Given the description of an element on the screen output the (x, y) to click on. 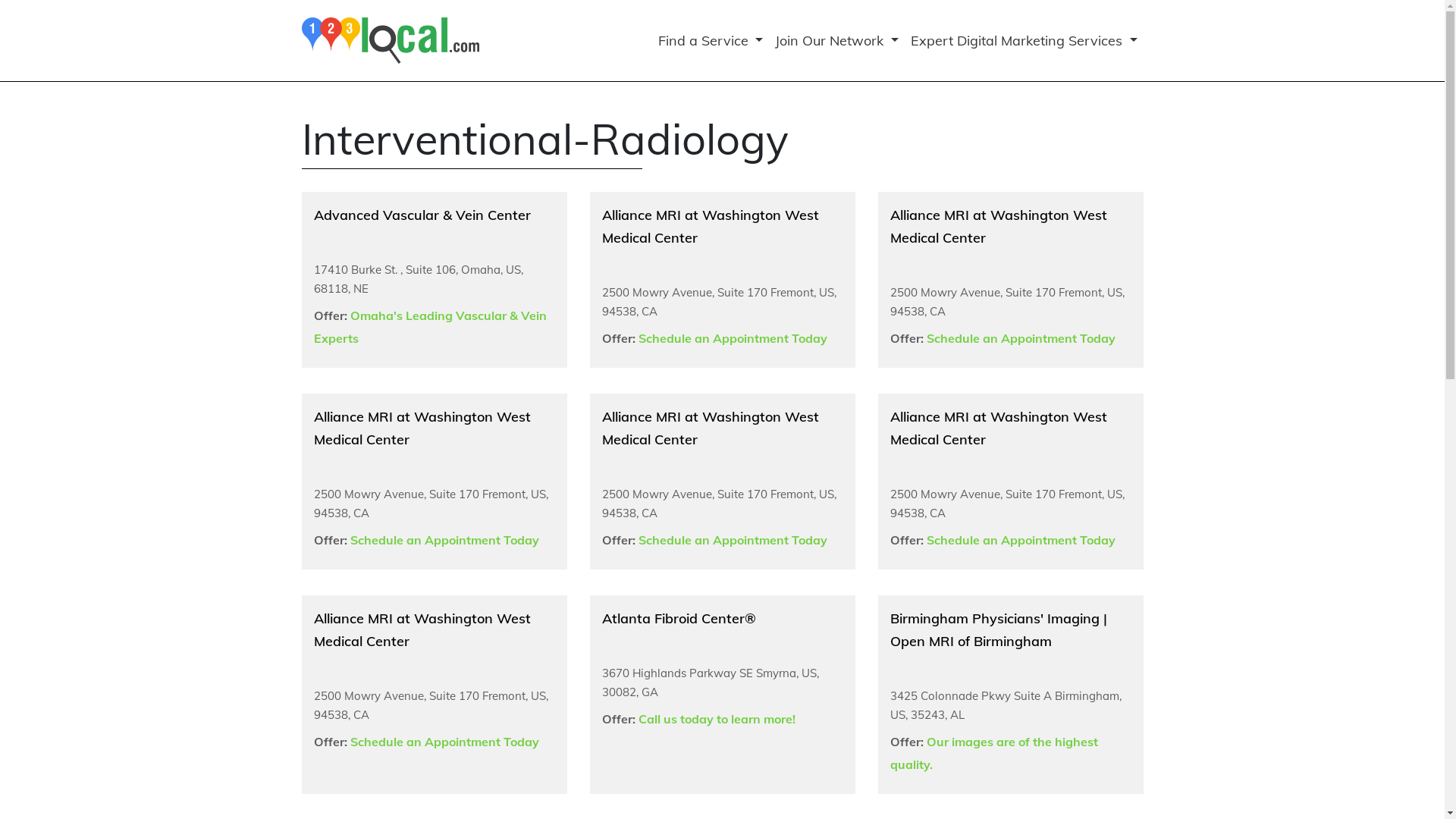
Alliance MRI at Washington West Medical Center Element type: text (998, 427)
Schedule an Appointment Today Element type: text (1020, 337)
Our images are of the highest quality. Element type: text (994, 752)
Advanced Vascular & Vein Center Element type: text (421, 214)
Call us today to learn more! Element type: text (716, 718)
Alliance MRI at Washington West Medical Center Element type: text (998, 226)
Schedule an Appointment Today Element type: text (732, 337)
Alliance MRI at Washington West Medical Center Element type: text (710, 226)
Alliance MRI at Washington West Medical Center Element type: text (421, 629)
Alliance MRI at Washington West Medical Center Element type: text (710, 427)
Join Our Network Element type: text (836, 40)
Omaha's Leading Vascular & Vein Experts Element type: text (429, 326)
Schedule an Appointment Today Element type: text (444, 741)
Schedule an Appointment Today Element type: text (444, 539)
Birmingham Physicians' Imaging | Open MRI of Birmingham Element type: text (998, 629)
Find a Service Element type: text (710, 40)
Schedule an Appointment Today Element type: text (1020, 539)
Alliance MRI at Washington West Medical Center Element type: text (421, 427)
Expert Digital Marketing Services Element type: text (1023, 40)
Schedule an Appointment Today Element type: text (732, 539)
